Given the description of an element on the screen output the (x, y) to click on. 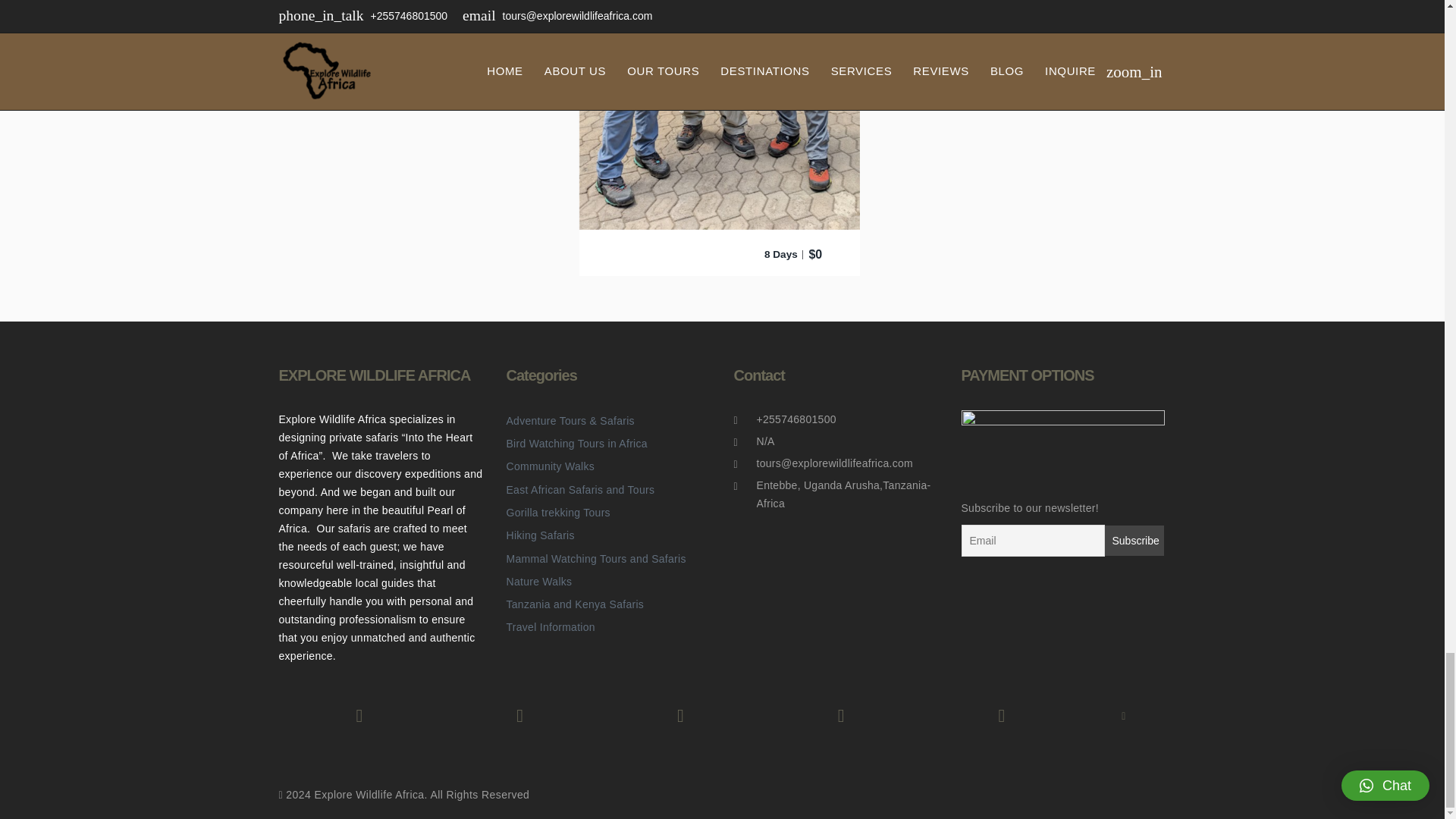
Subscribe (1133, 540)
